Given the description of an element on the screen output the (x, y) to click on. 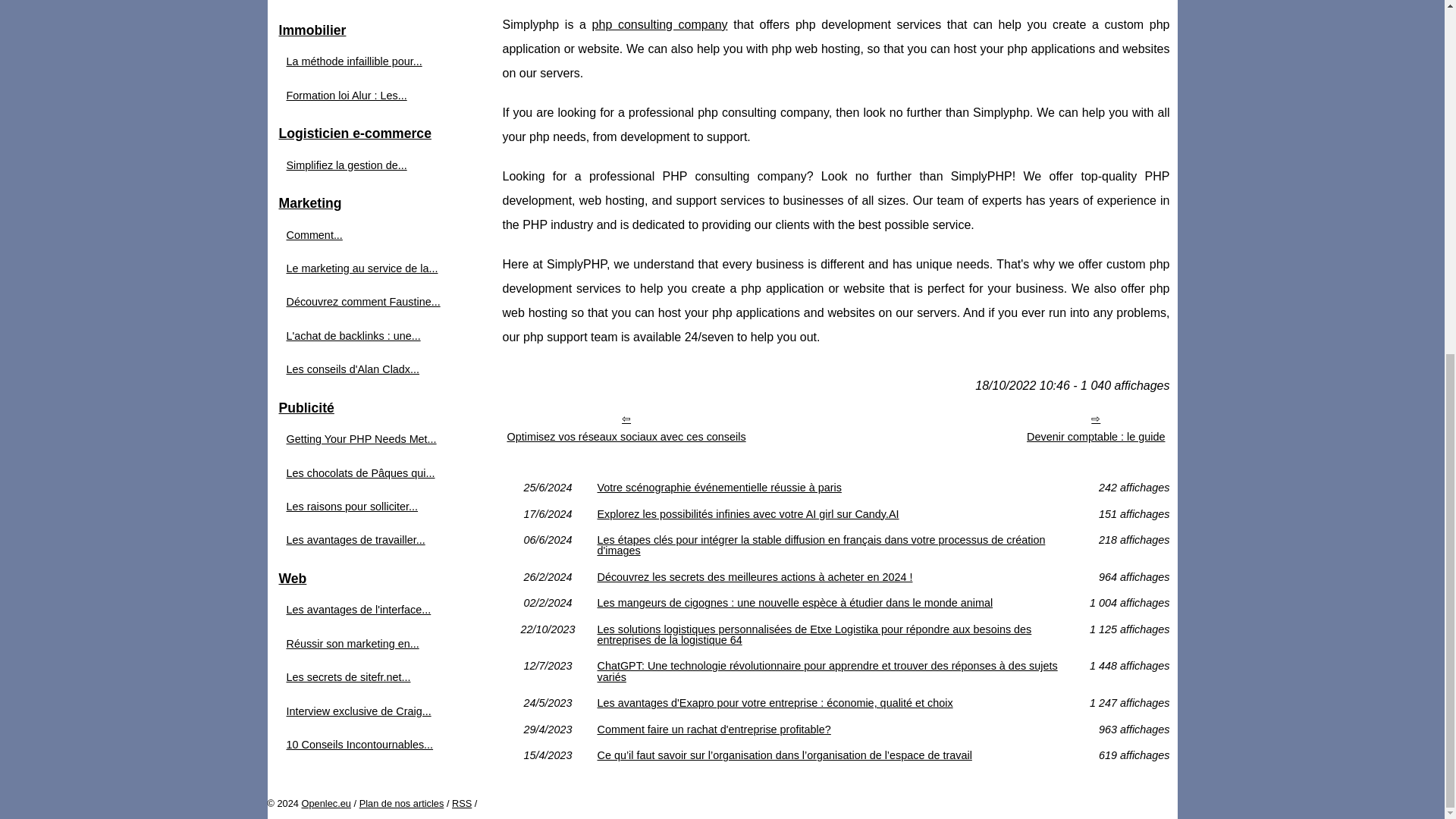
Formation loi Alur : Les... (373, 95)
Comment faire un rachat d'entreprise profitable? (835, 728)
Devenir comptable : le guide (1095, 427)
L'achat de backlinks : une... (373, 335)
php consulting company (660, 24)
Les avantages de travailler... (373, 539)
Comment faire un rachat d'entreprise profitable? (835, 728)
Les conseils d'Alan Cladx... (373, 369)
php consulting company (660, 24)
Comment... (373, 235)
Les raisons pour solliciter... (373, 506)
Le marketing au service de la... (373, 268)
Simplifiez la gestion de... (373, 165)
Logisticien e-commerce (380, 133)
